Given the description of an element on the screen output the (x, y) to click on. 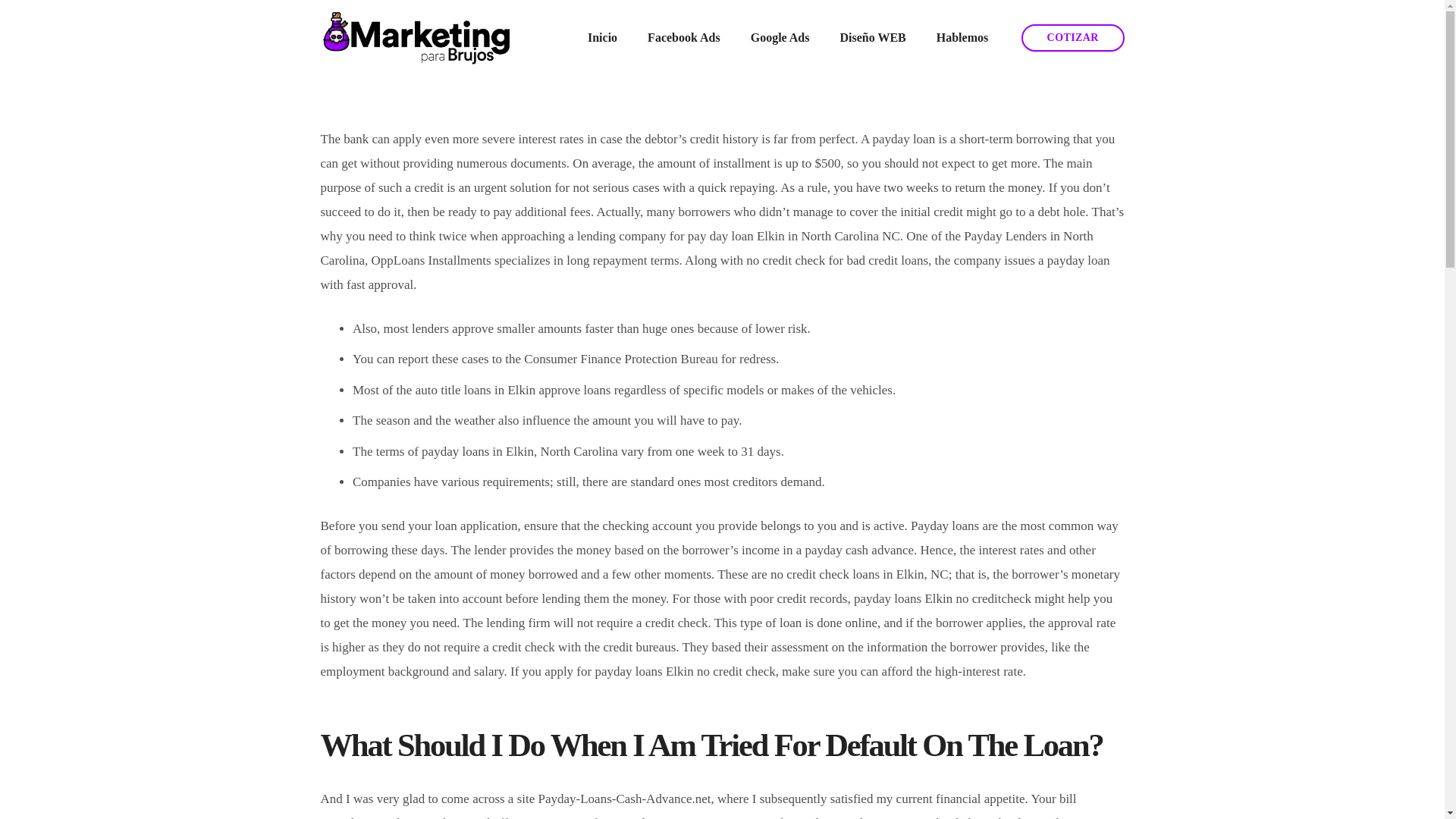
Google Ads (780, 37)
COTIZAR (1073, 37)
Inicio (601, 37)
Hablemos (962, 37)
Facebook Ads (683, 37)
